Given the description of an element on the screen output the (x, y) to click on. 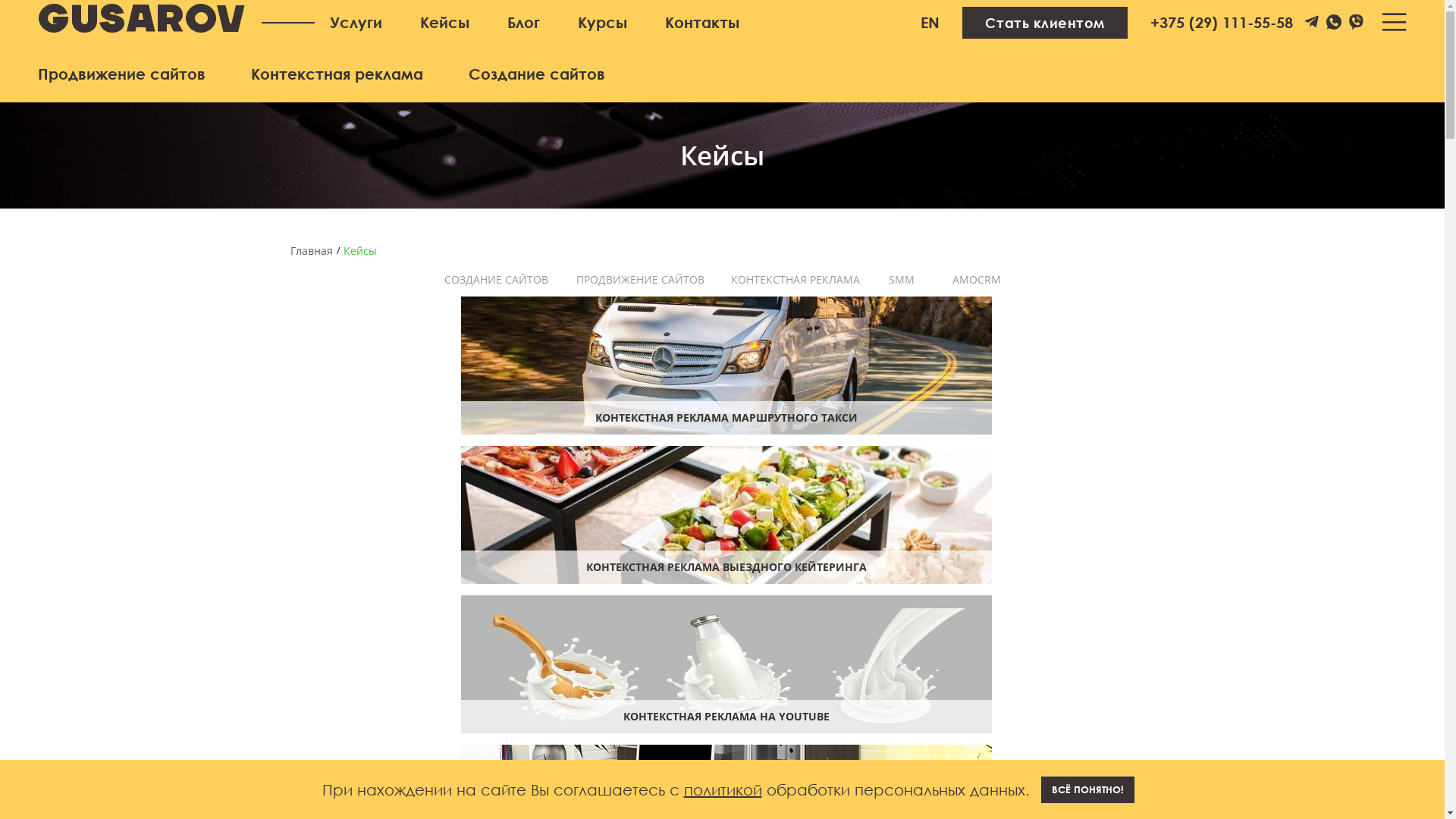
SMM Element type: text (901, 279)
+375 (29) 111-55-58 Element type: text (1221, 21)
GUSAROV Element type: text (141, 21)
EN Element type: text (929, 21)
AMOCRM Element type: text (976, 279)
